Given the description of an element on the screen output the (x, y) to click on. 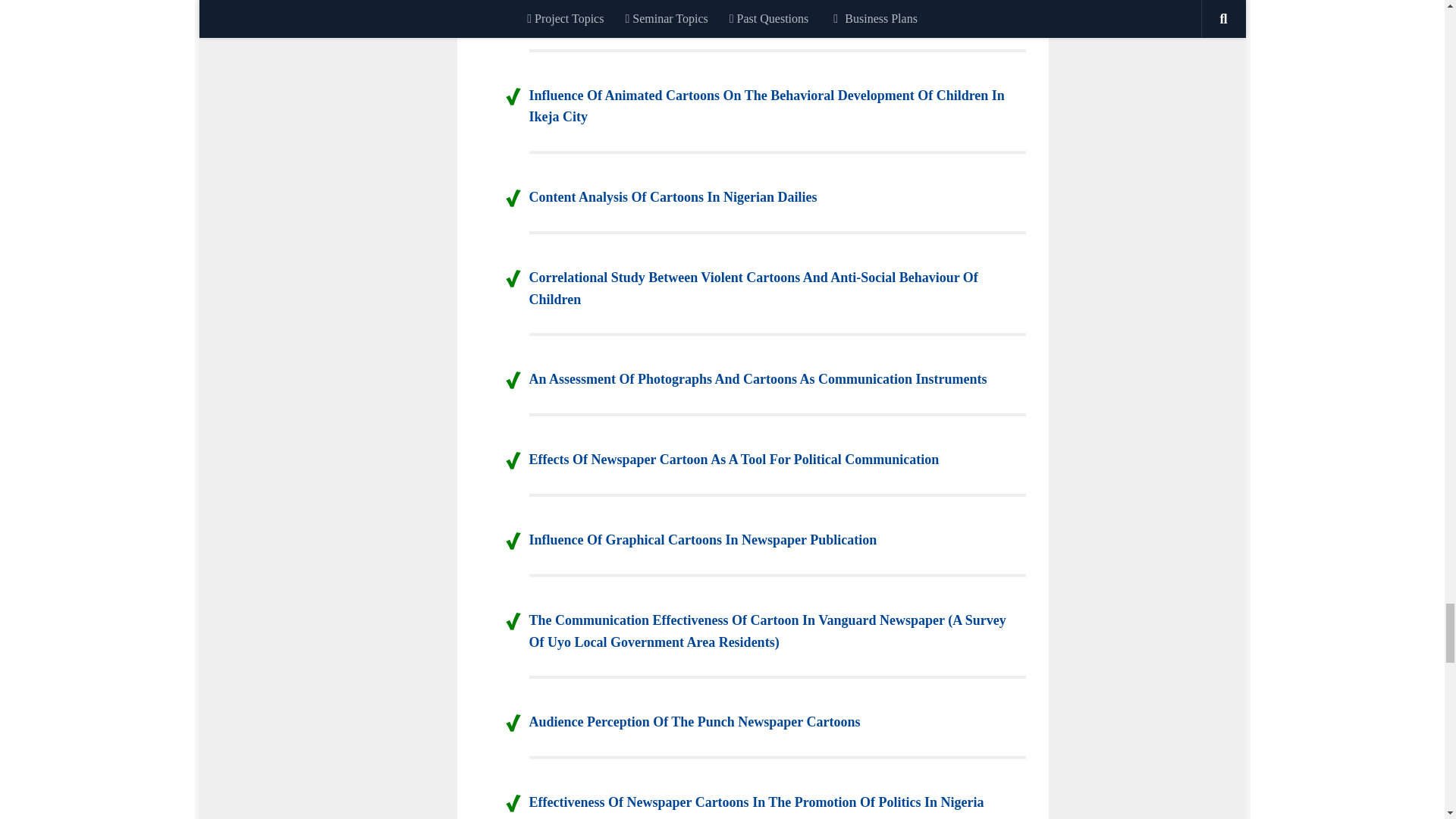
Influence Of Graphical Cartoons In Newspaper Publication (703, 539)
Audience Perception Of The Punch Newspaper Cartoons (694, 721)
Content Analysis Of Cartoons In Nigerian Dailies (672, 196)
Content Analysis Of Cartoons In Nigerian Dailies (672, 196)
